Given the description of an element on the screen output the (x, y) to click on. 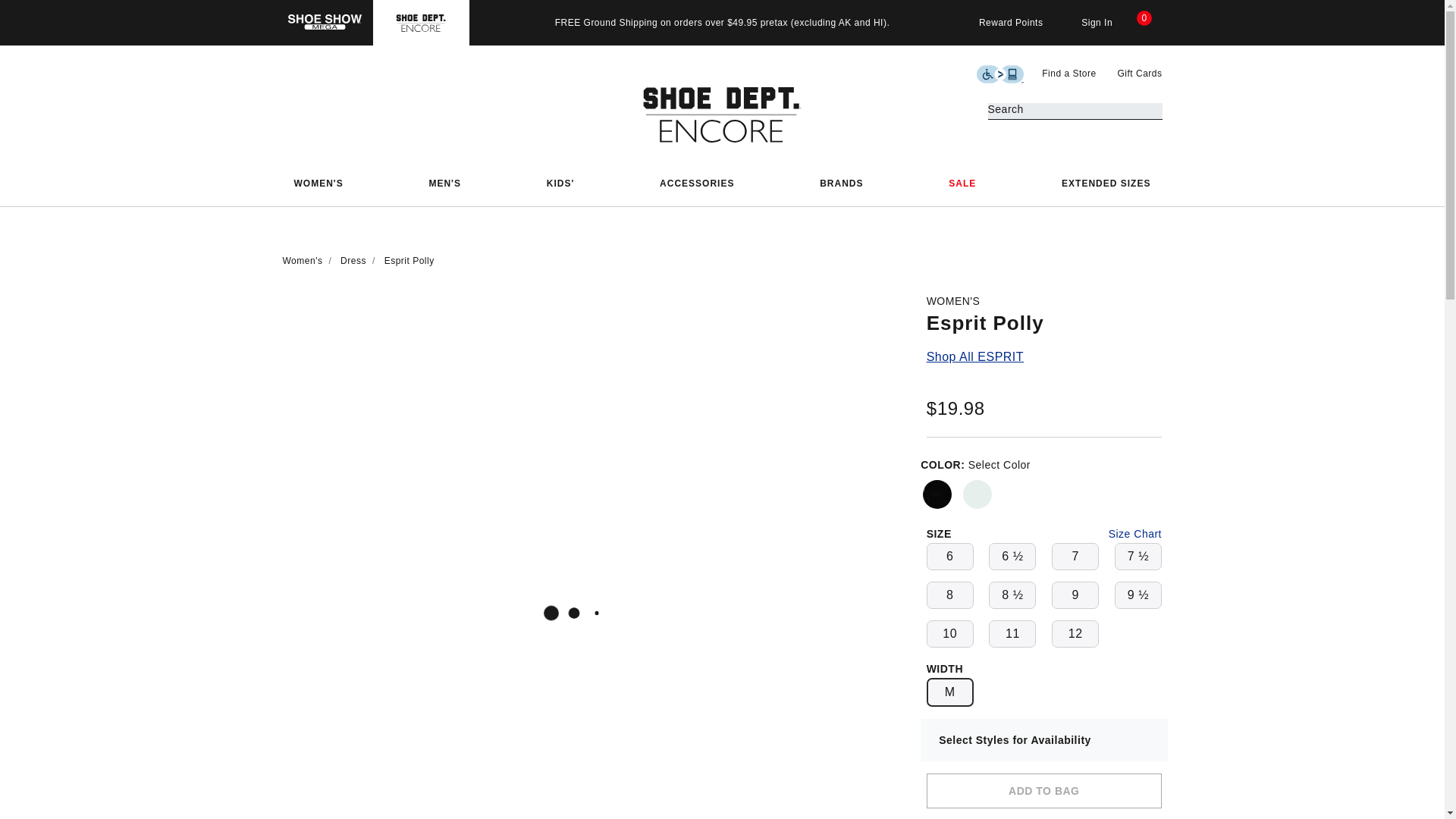
Reward Points (1001, 22)
Sign In (1088, 22)
WOMEN'S (318, 183)
Gift Cards (1138, 72)
Search (1149, 111)
0 (1149, 22)
Find a Store (1070, 72)
